Given the description of an element on the screen output the (x, y) to click on. 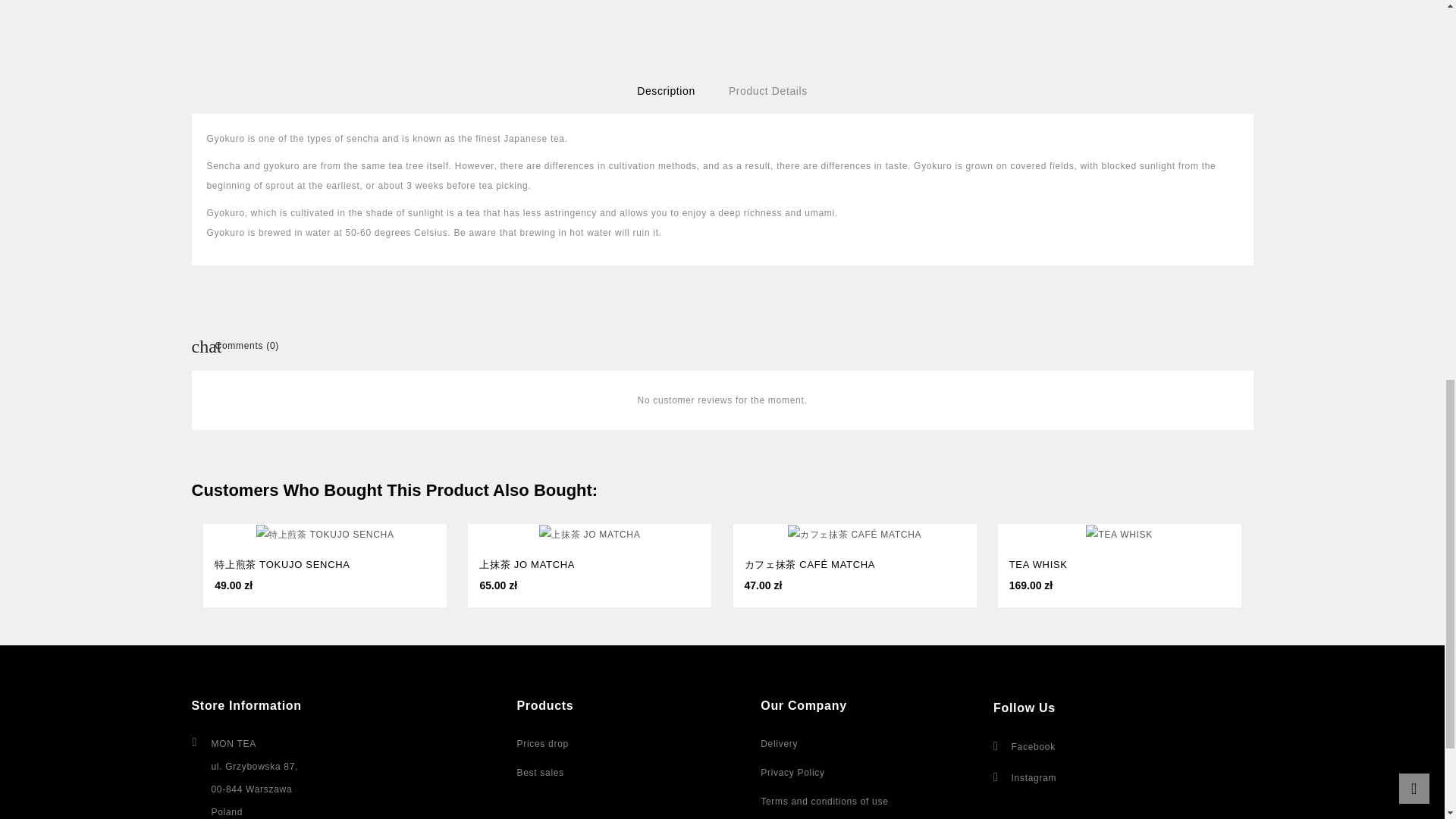
Our terms and conditions of delivery (778, 743)
Our terms and conditions of use (824, 801)
Product Details (767, 90)
Description (665, 90)
Our special products (542, 743)
Our best sales (540, 772)
